Given the description of an element on the screen output the (x, y) to click on. 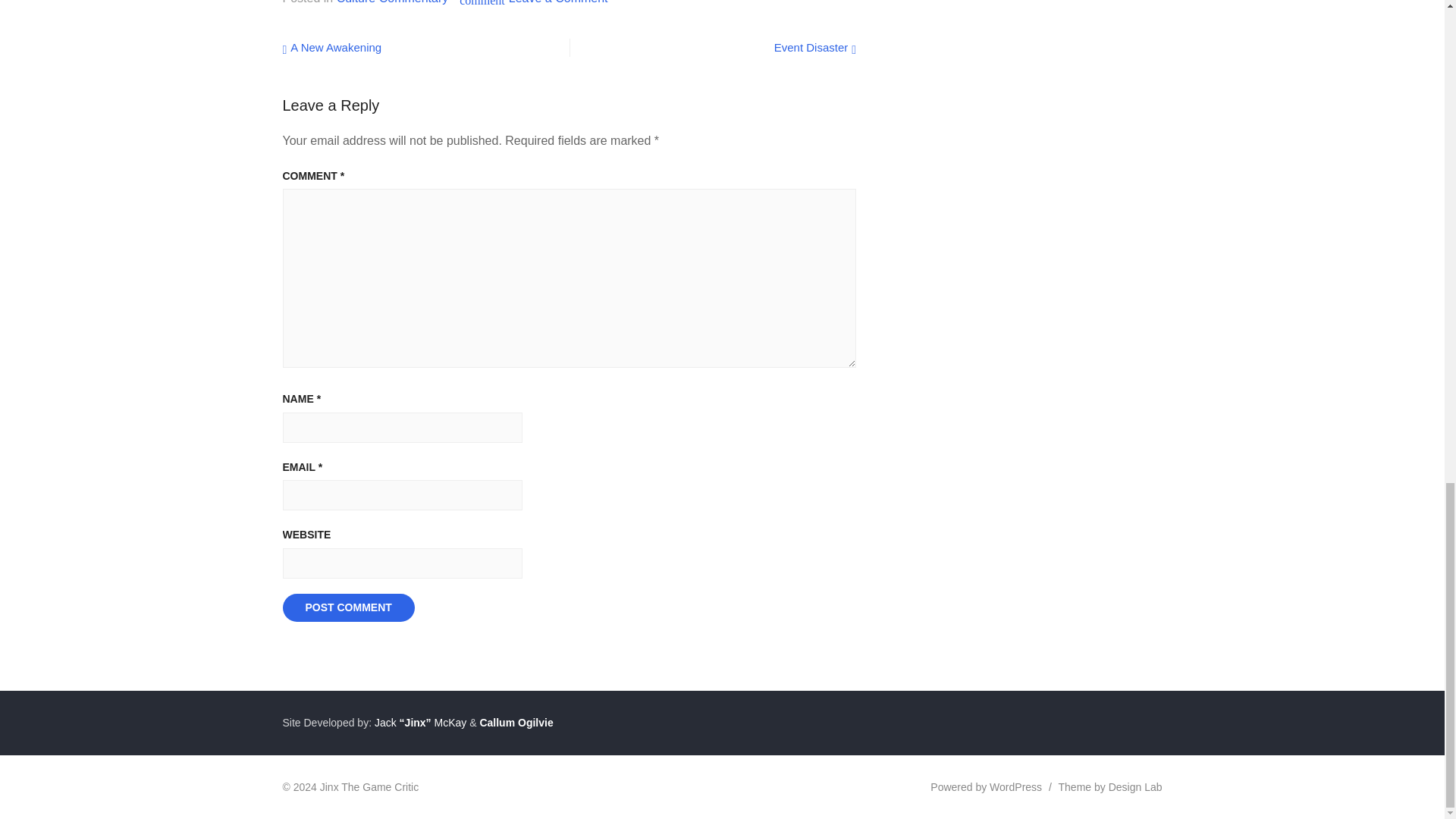
Post Comment (347, 607)
Theme by Design Lab (1109, 787)
McKay (450, 722)
Powered by WordPress (986, 787)
Post Comment (347, 607)
Event Disaster (815, 47)
Callum Ogilvie (516, 722)
Jack (558, 2)
A New Awakening (383, 722)
Culture Commentary (331, 47)
